Given the description of an element on the screen output the (x, y) to click on. 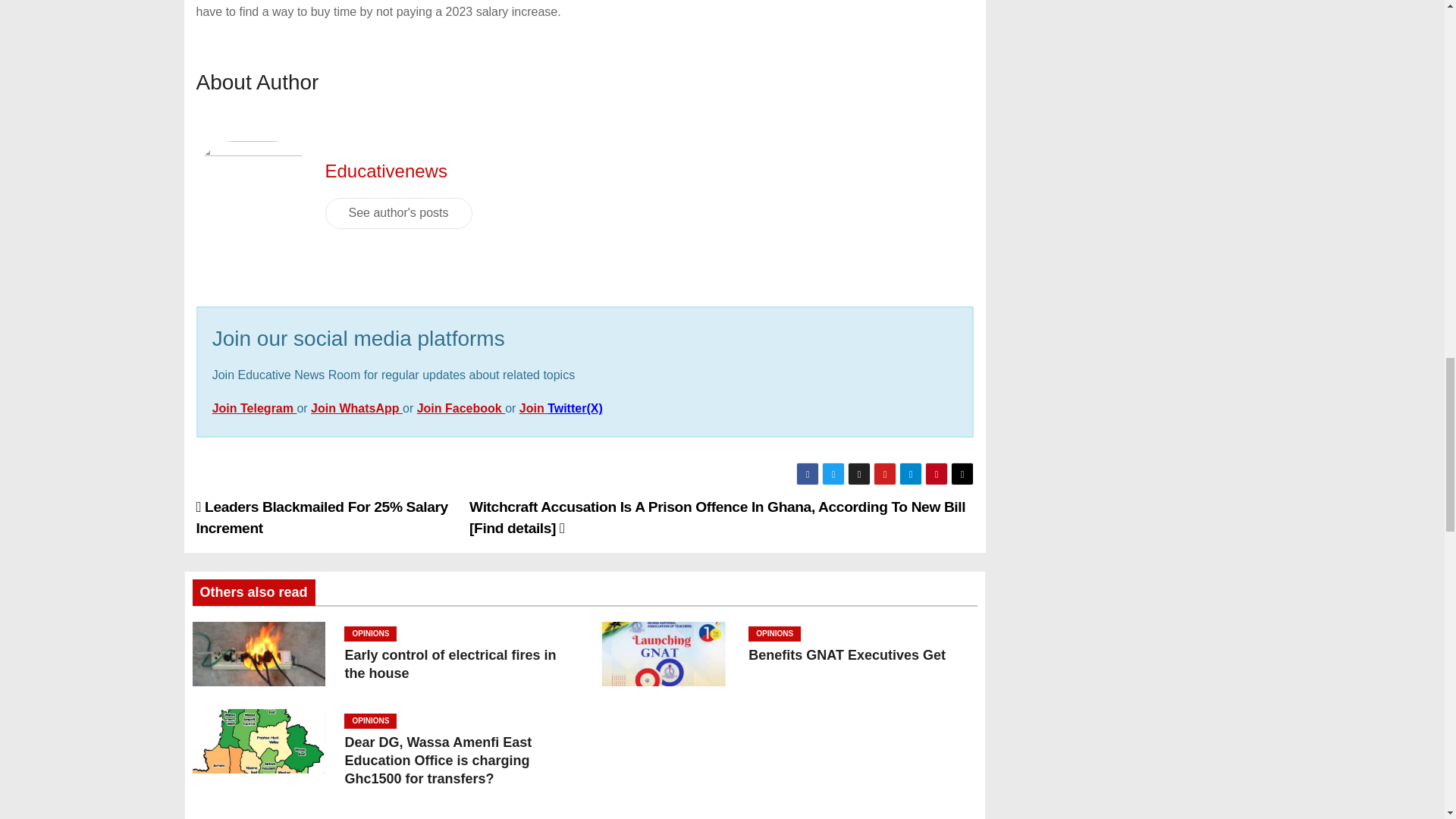
Join Telegram (254, 408)
Educativenews (385, 170)
Join Facebook (460, 408)
Join WhatsApp (357, 408)
See author's posts (397, 213)
Join  (533, 408)
